Given the description of an element on the screen output the (x, y) to click on. 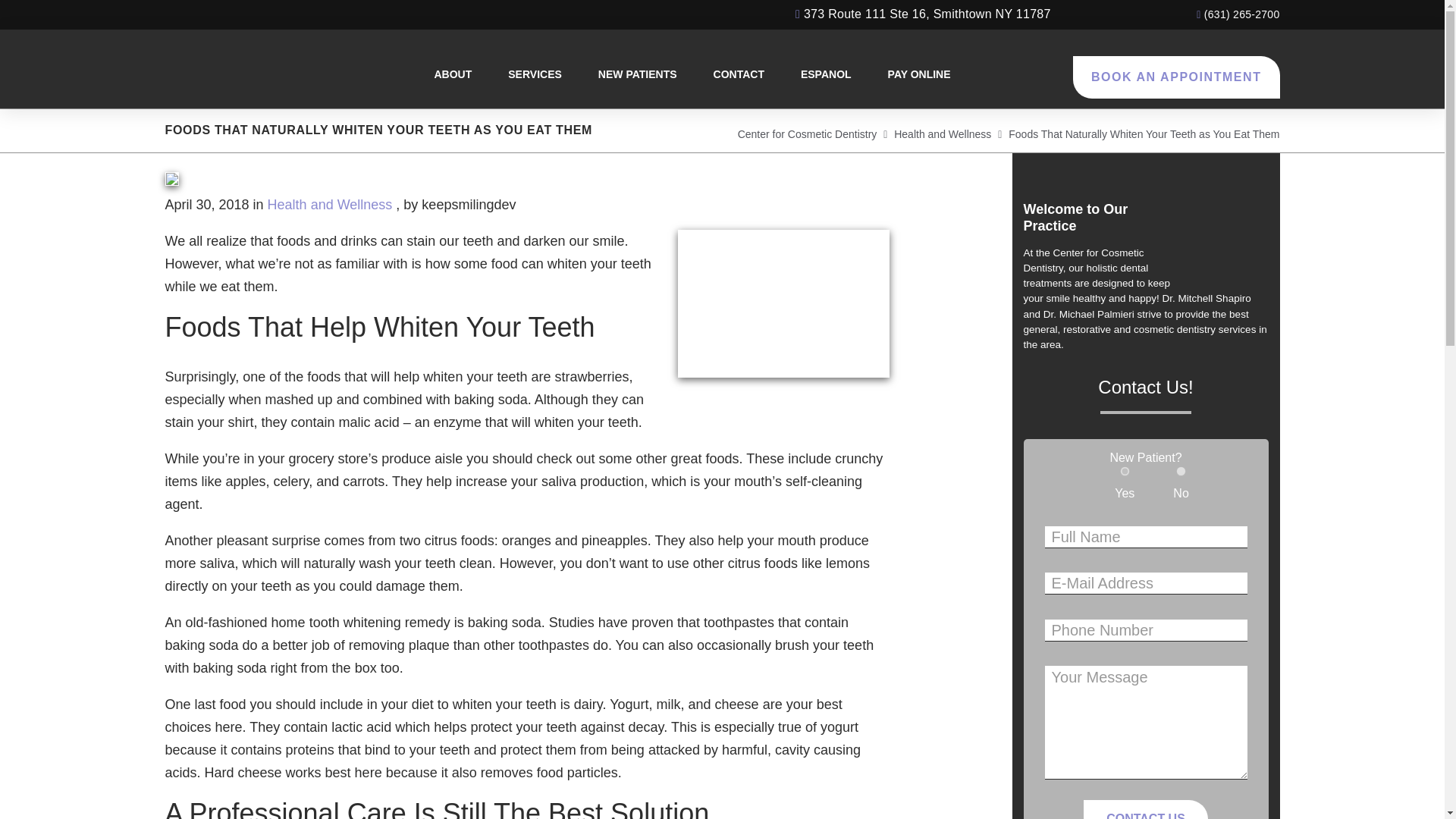
Yes (1124, 470)
ESPANOL (826, 74)
373 Route 111 Ste 16, Smithtown NY 11787 (922, 14)
ABOUT (453, 74)
SERVICES (534, 74)
No (1181, 470)
Dental friendly foods that help whiten your teeth.  (783, 303)
Contact Us (1145, 809)
CONTACT (739, 74)
NEW PATIENTS (637, 74)
PAY ONLINE (919, 74)
